Given the description of an element on the screen output the (x, y) to click on. 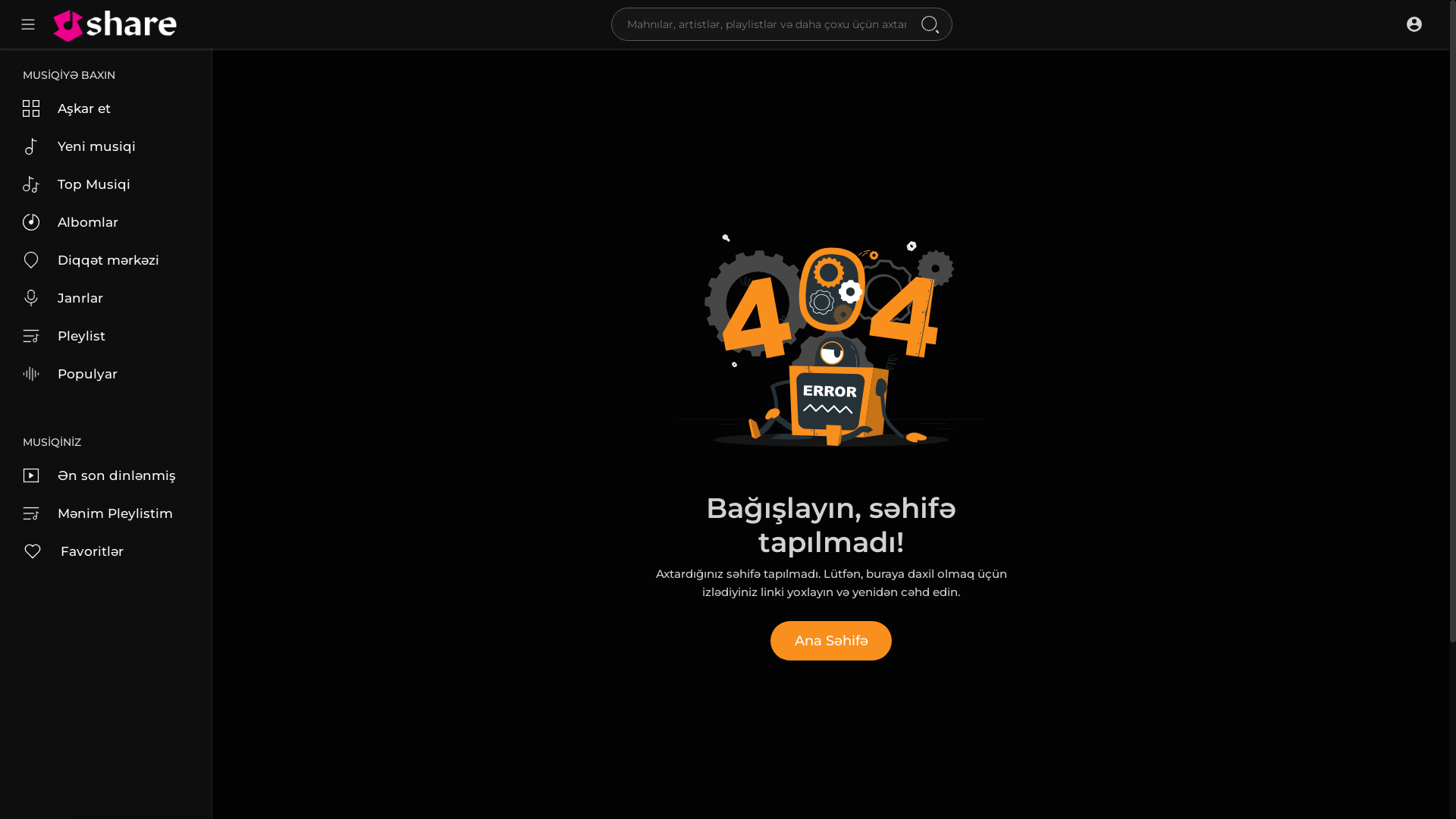
Janrlar Element type: text (105, 297)
Top Musiqi Element type: text (105, 184)
Yeni musiqi Element type: text (105, 146)
Albomlar Element type: text (105, 222)
Pleylist Element type: text (105, 335)
Populyar Element type: text (105, 373)
